Given the description of an element on the screen output the (x, y) to click on. 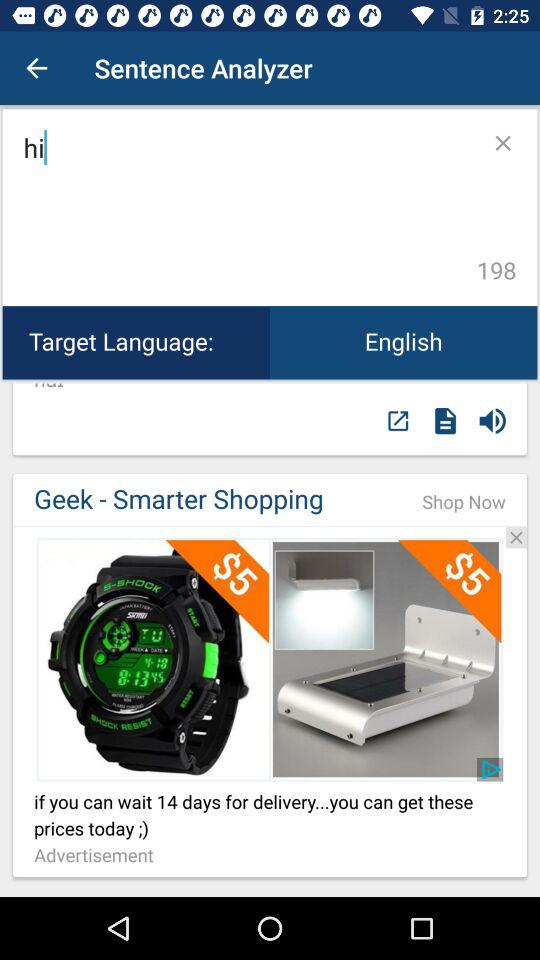
swipe until the advertisement item (99, 855)
